Given the description of an element on the screen output the (x, y) to click on. 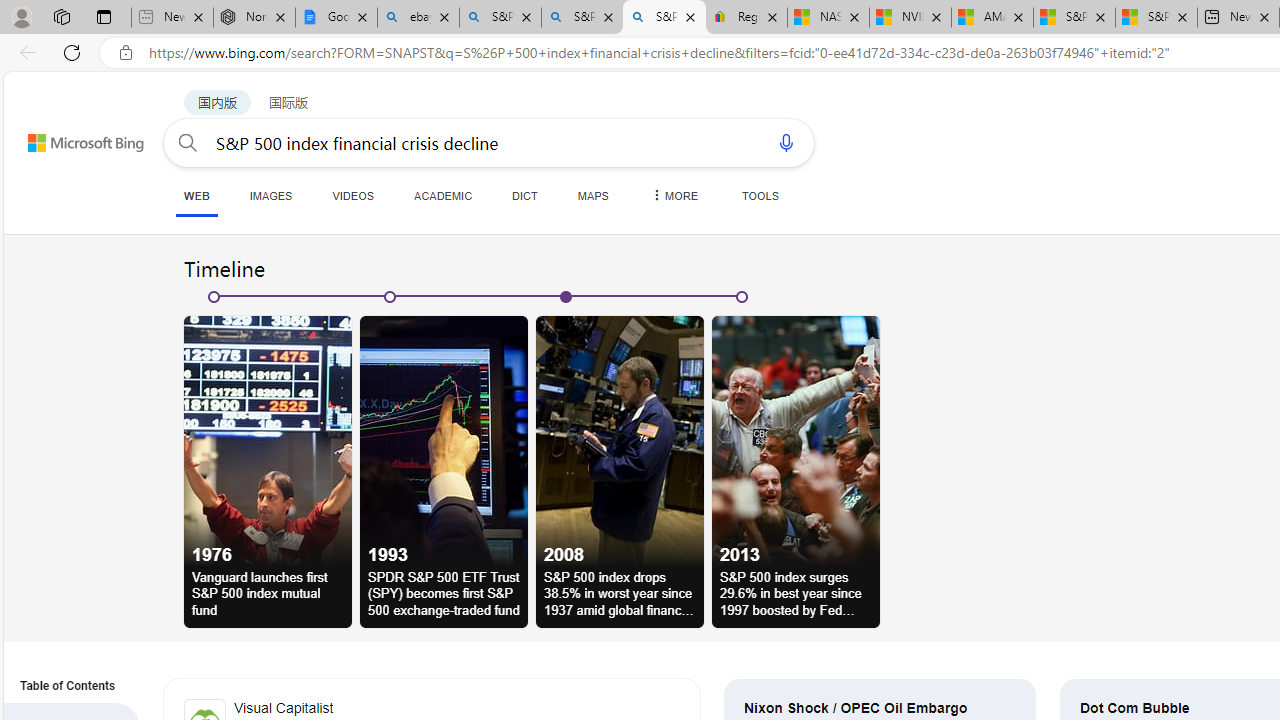
S&P 500 index financial crisis decline - Search (664, 17)
S&P 500, Nasdaq end lower, weighed by Nvidia dip | Watch (1156, 17)
2013 (795, 440)
Search button (187, 142)
1976Vanguard launches first S&P 500 index mutual fund (268, 461)
Back to Bing search (73, 138)
VIDEOS (352, 195)
MAPS (592, 195)
